Given the description of an element on the screen output the (x, y) to click on. 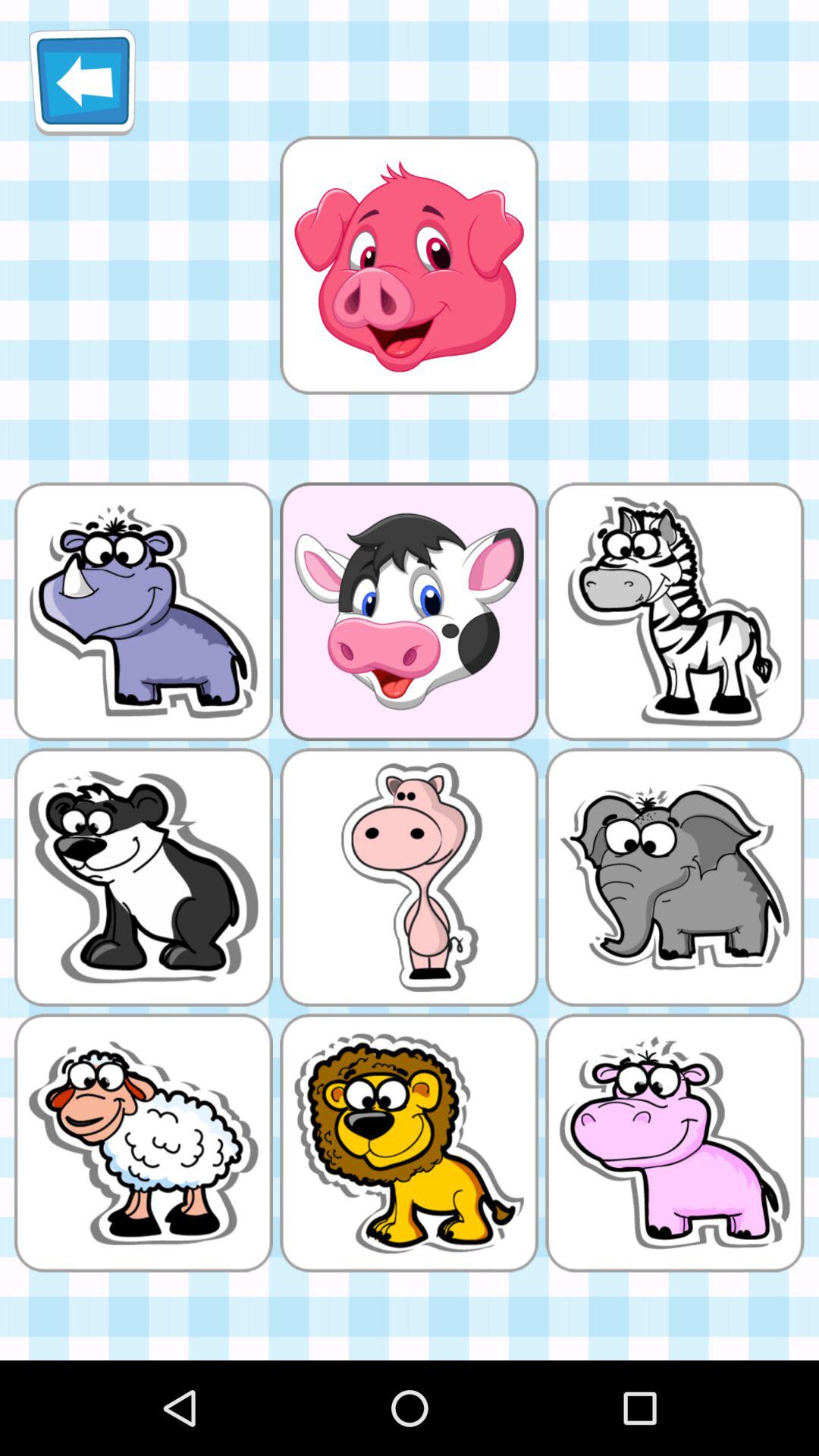
choose image (409, 264)
